Given the description of an element on the screen output the (x, y) to click on. 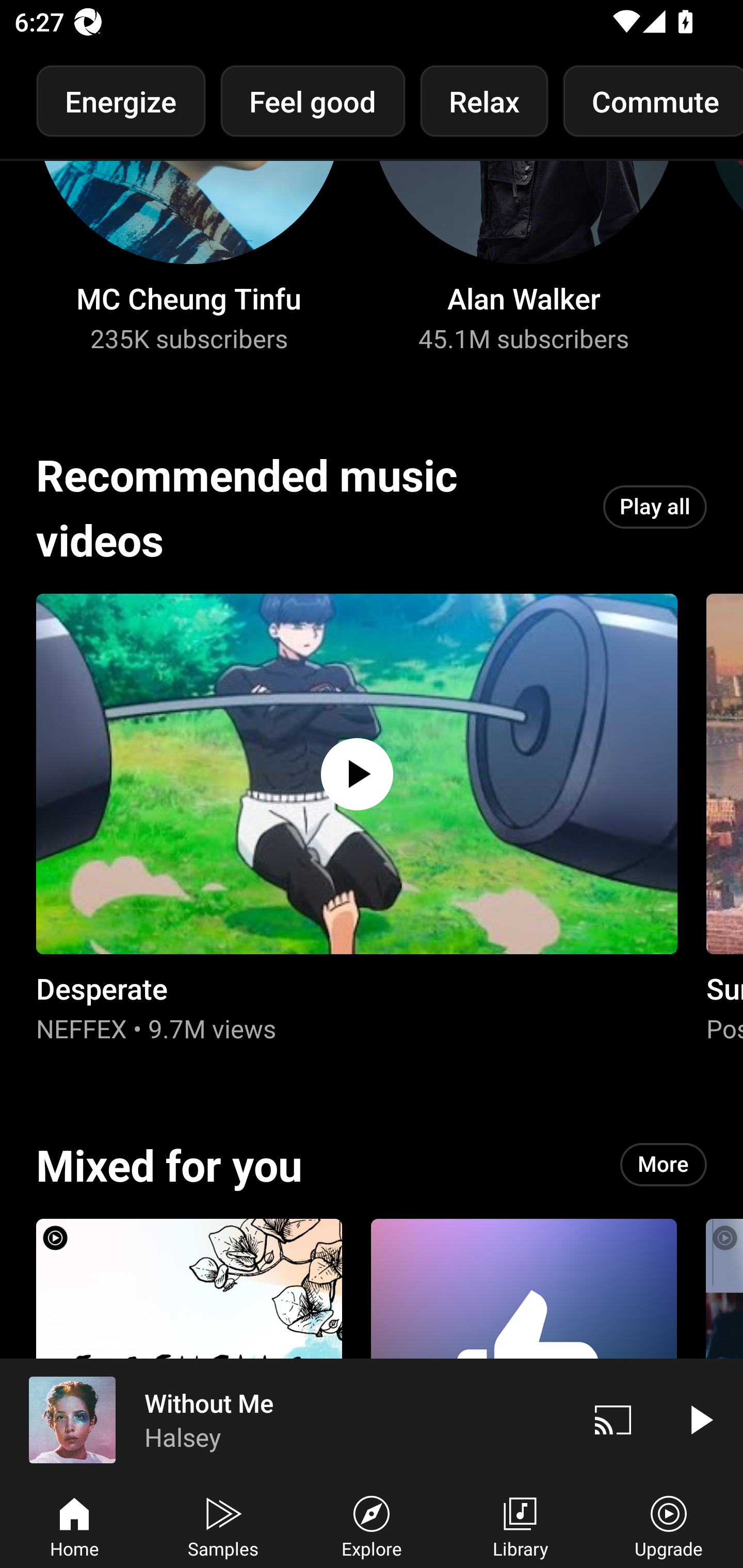
Without Me Halsey (284, 1419)
Cast. Disconnected (612, 1419)
Play video (699, 1419)
Home (74, 1524)
Samples (222, 1524)
Explore (371, 1524)
Library (519, 1524)
Upgrade (668, 1524)
